Given the description of an element on the screen output the (x, y) to click on. 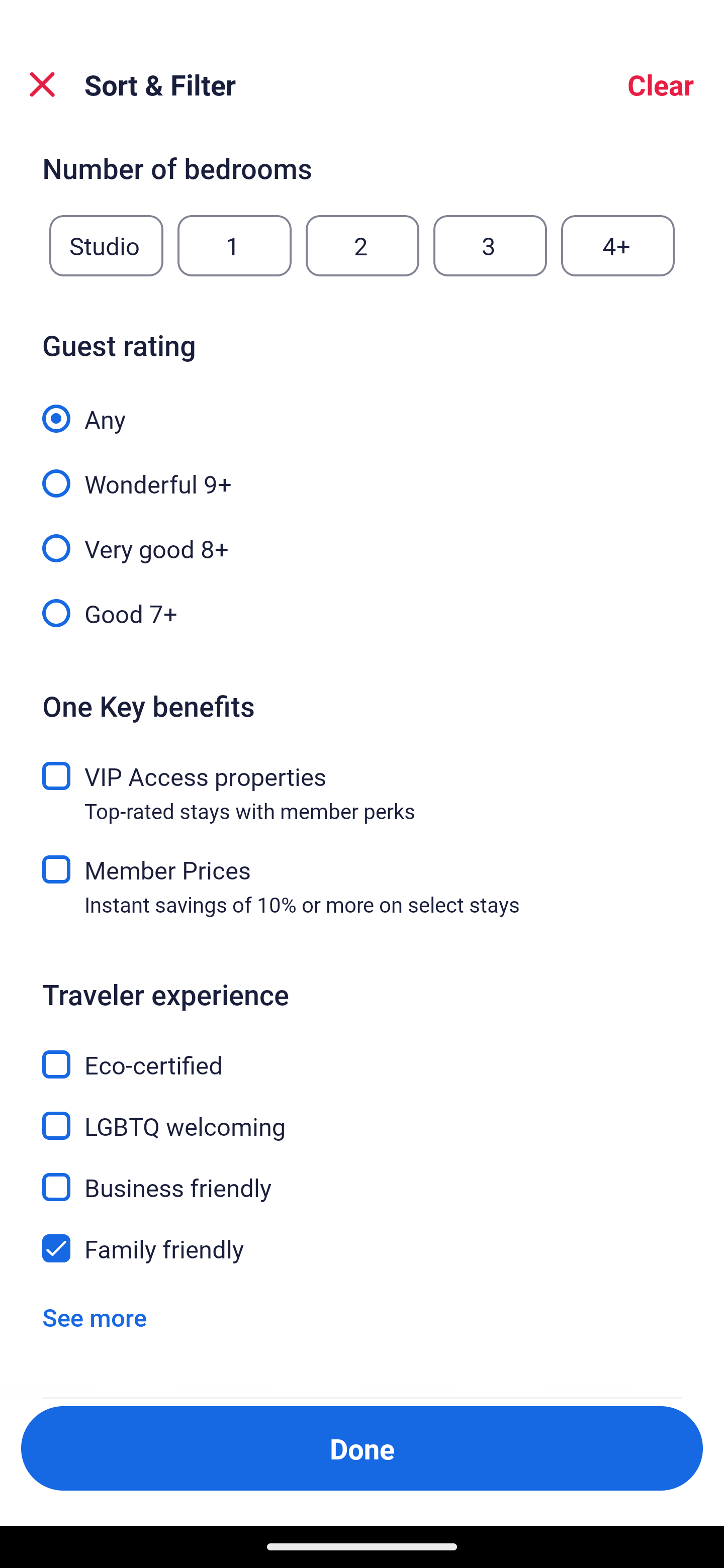
Close Sort and Filter (42, 84)
Clear (660, 84)
Studio (106, 245)
1 (234, 245)
2 (362, 245)
3 (490, 245)
4+ (617, 245)
Wonderful 9+ (361, 472)
Very good 8+ (361, 536)
Good 7+ (361, 611)
Eco-certified, Eco-certified (361, 1052)
LGBTQ welcoming, LGBTQ welcoming (361, 1113)
Business friendly, Business friendly (361, 1175)
Family friendly, Family friendly (361, 1248)
See more See more traveler experience options Link (93, 1316)
Apply and close Sort and Filter Done (361, 1448)
